Given the description of an element on the screen output the (x, y) to click on. 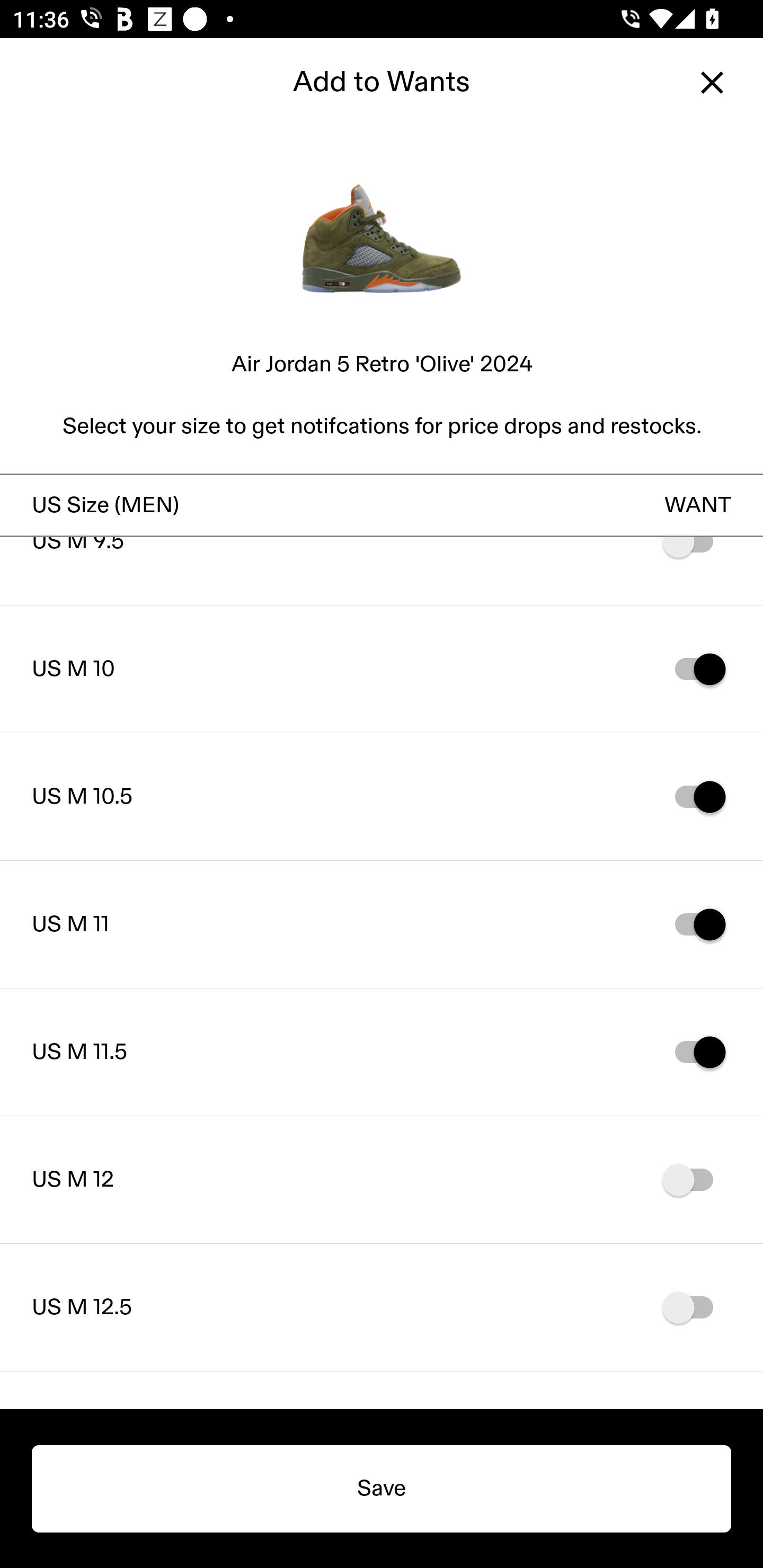
Save (381, 1488)
